Given the description of an element on the screen output the (x, y) to click on. 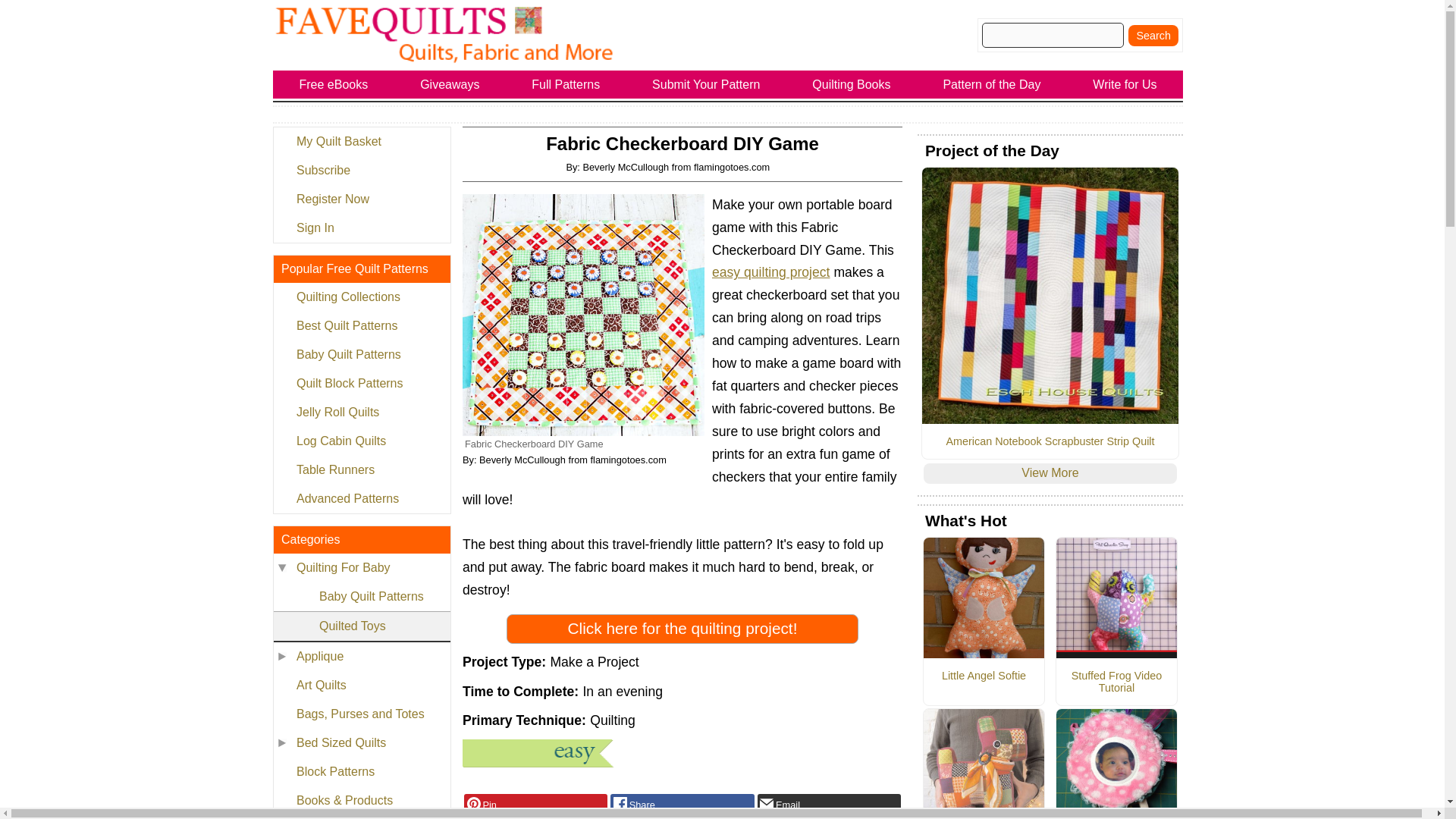
Subscribe (361, 170)
Search (1152, 35)
Register Now (361, 199)
Email (829, 803)
Sign In (361, 227)
Fabric Checkerboard DIY Game (583, 314)
Facebook (682, 803)
My Quilt Basket (361, 141)
